Given the description of an element on the screen output the (x, y) to click on. 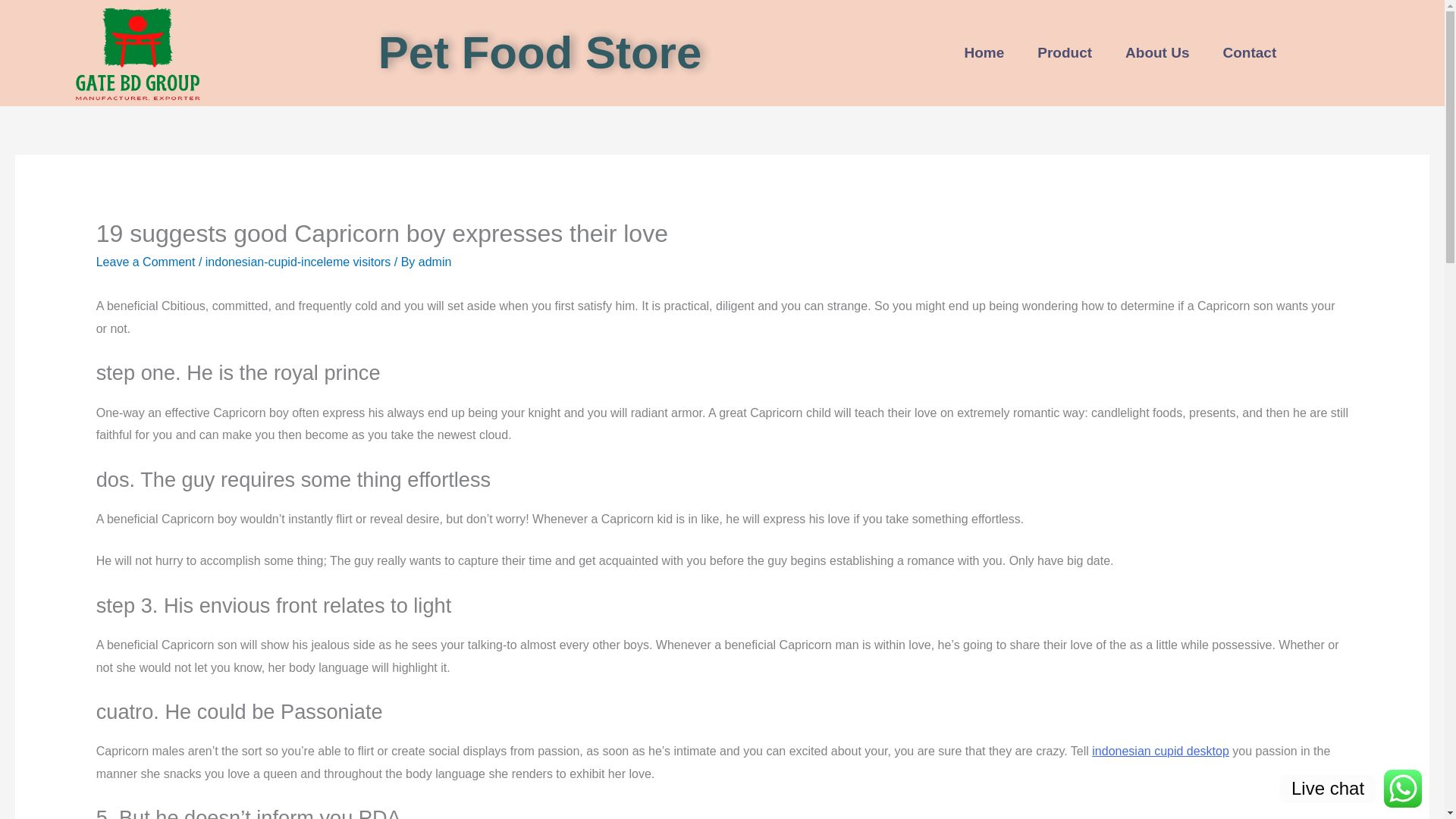
indonesian cupid desktop (1160, 750)
Home (984, 53)
View all posts by admin (435, 261)
Pet Food Store (539, 52)
indonesian-cupid-inceleme visitors (298, 261)
admin (435, 261)
Contact (1250, 53)
About Us (1156, 53)
Leave a Comment (145, 261)
Product (1064, 53)
